Given the description of an element on the screen output the (x, y) to click on. 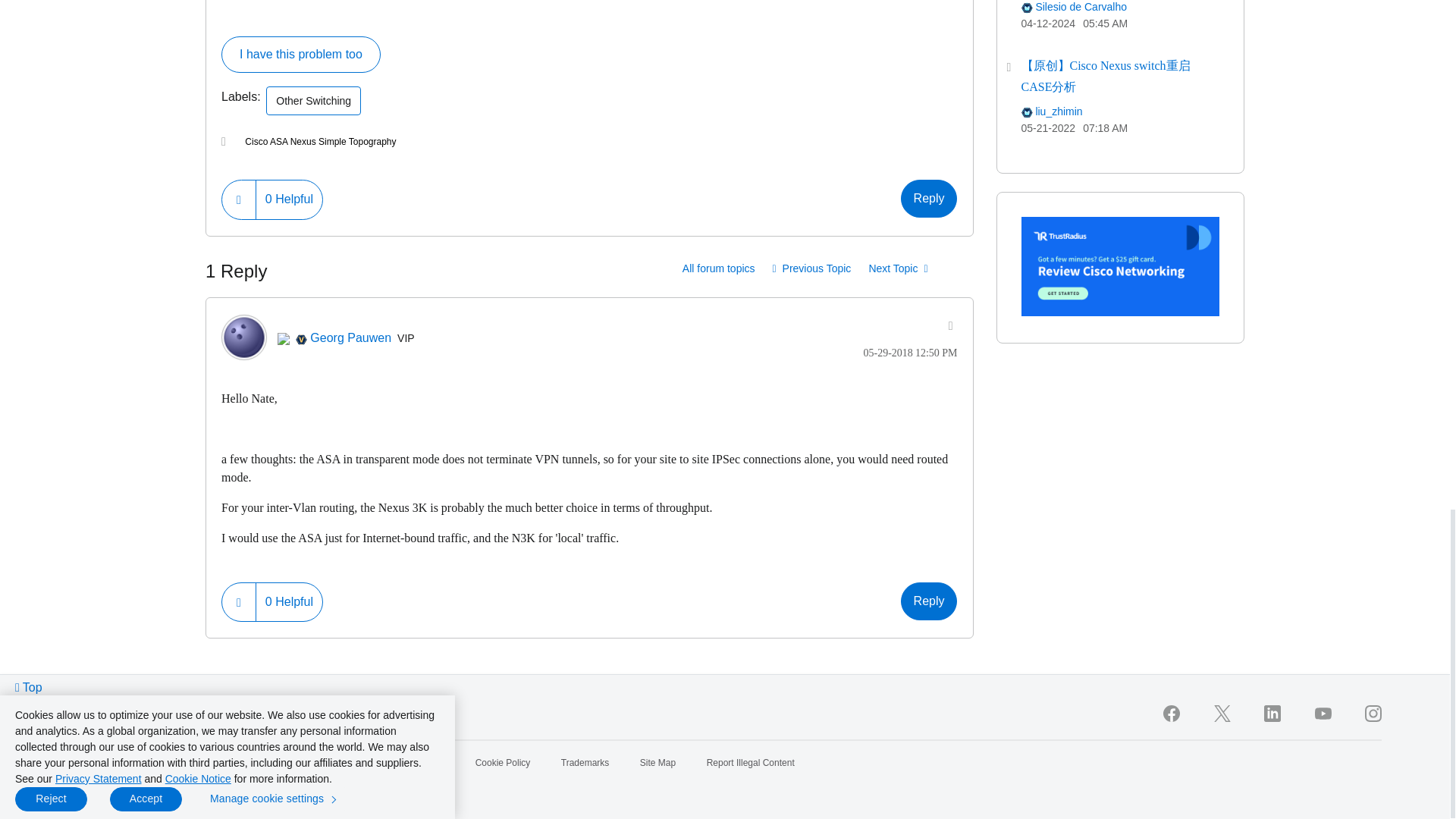
Click here if you had a similar experience (300, 54)
Top (29, 686)
Top (29, 686)
